Given the description of an element on the screen output the (x, y) to click on. 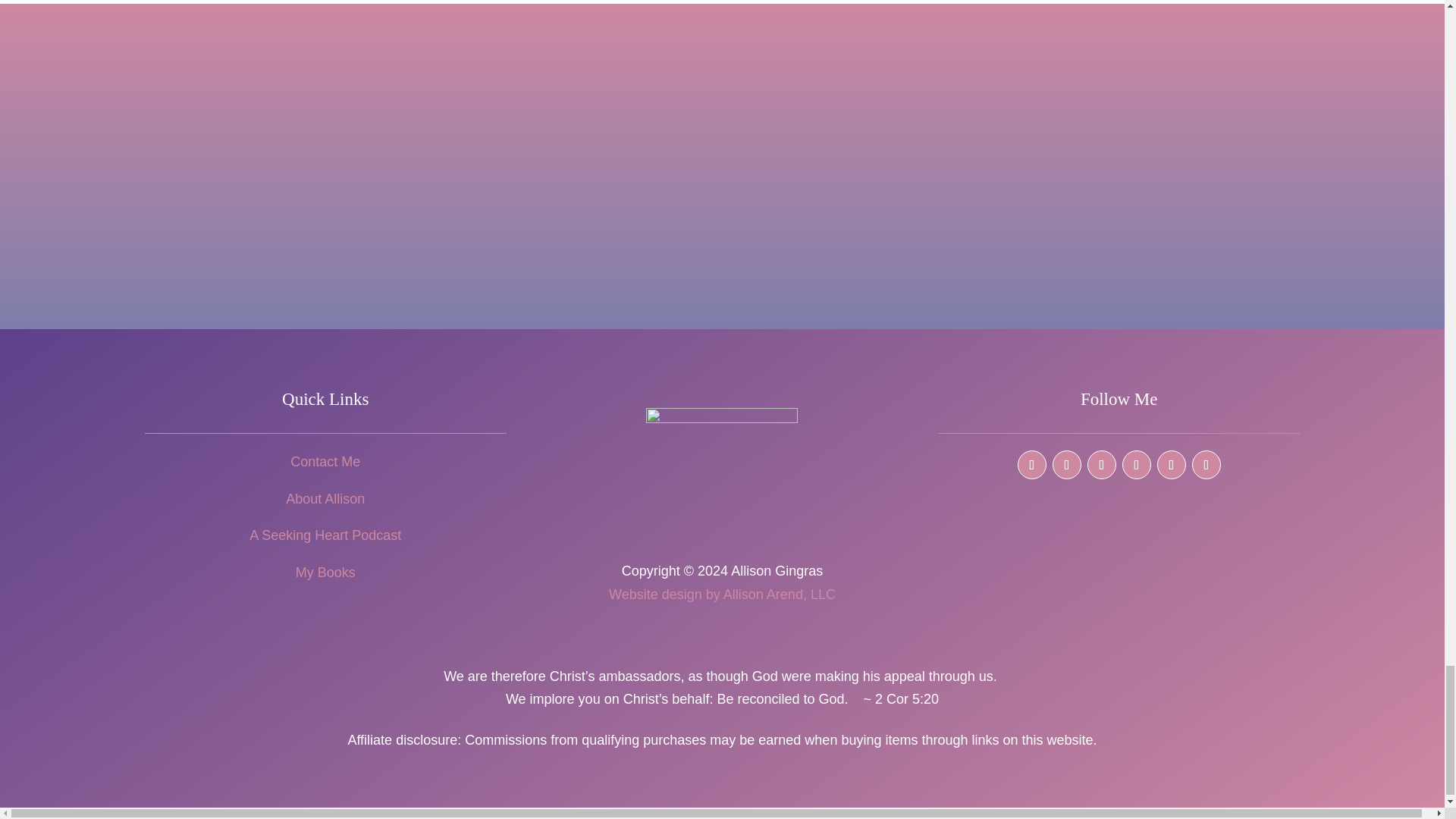
Follow on Facebook (1031, 464)
Follow on Instagram (1066, 464)
Follow on LinkedIn (1171, 464)
Follow on X (1101, 464)
Follow on Pinterest (1136, 464)
Follow on Goodreads (1206, 464)
